Given the description of an element on the screen output the (x, y) to click on. 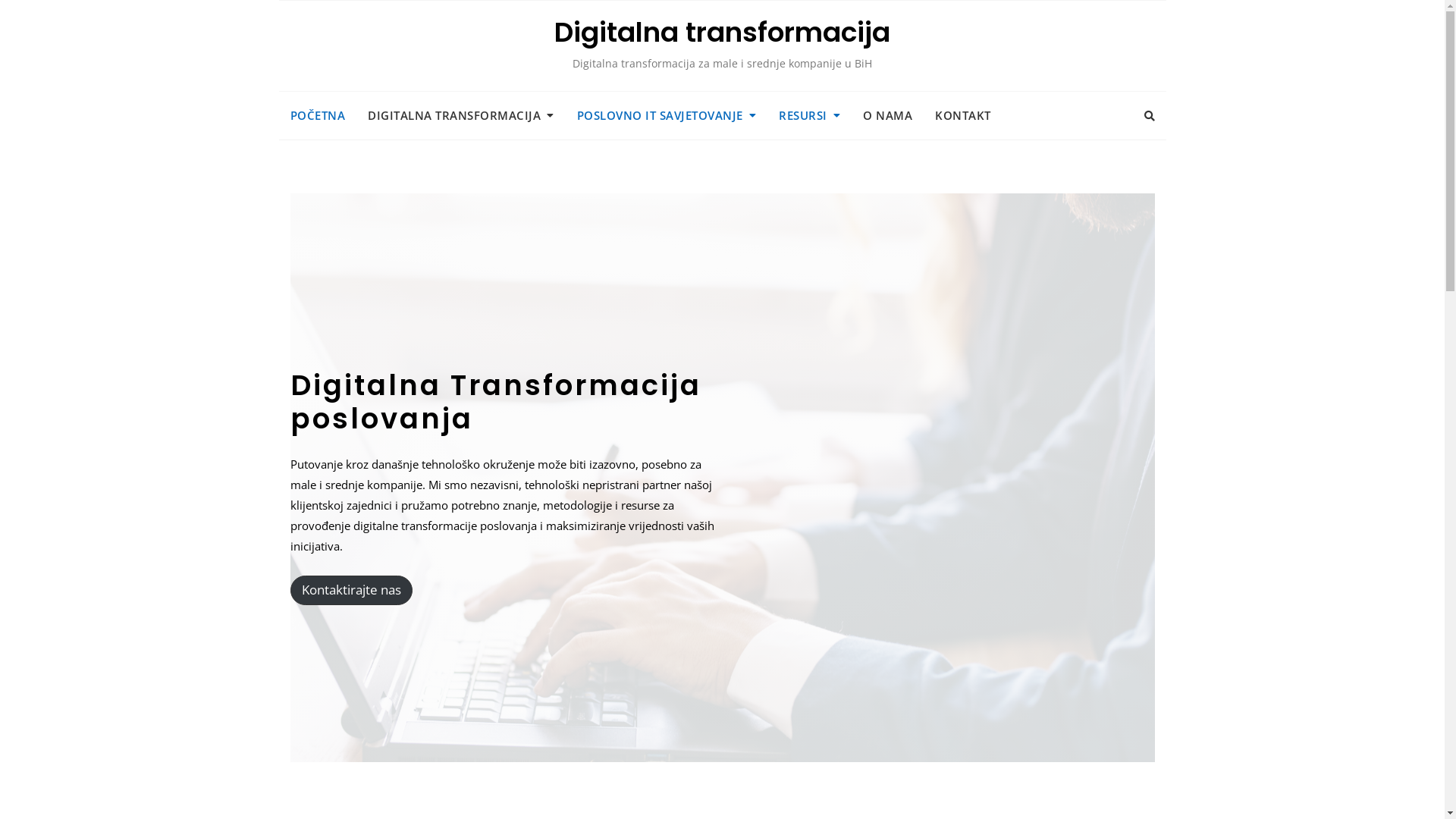
RESURSI Element type: text (809, 115)
KONTAKT Element type: text (962, 115)
POSLOVNO IT SAVJETOVANJE Element type: text (666, 115)
DIGITALNA TRANSFORMACIJA Element type: text (460, 115)
Kontaktirajte nas Element type: text (350, 590)
Digitalna transformacija Element type: text (722, 31)
O NAMA Element type: text (887, 115)
